Given the description of an element on the screen output the (x, y) to click on. 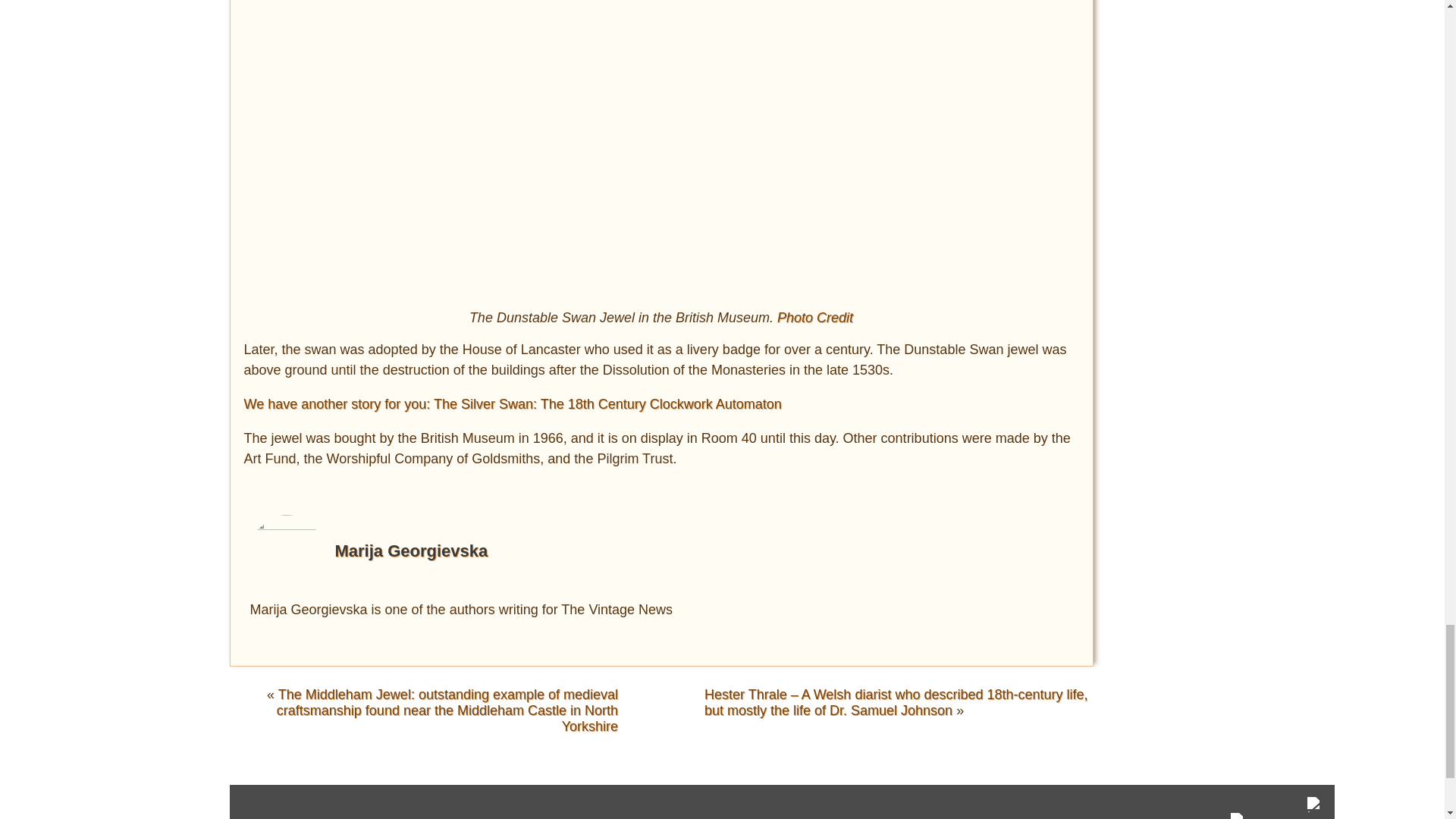
War History Online (1238, 816)
